Given the description of an element on the screen output the (x, y) to click on. 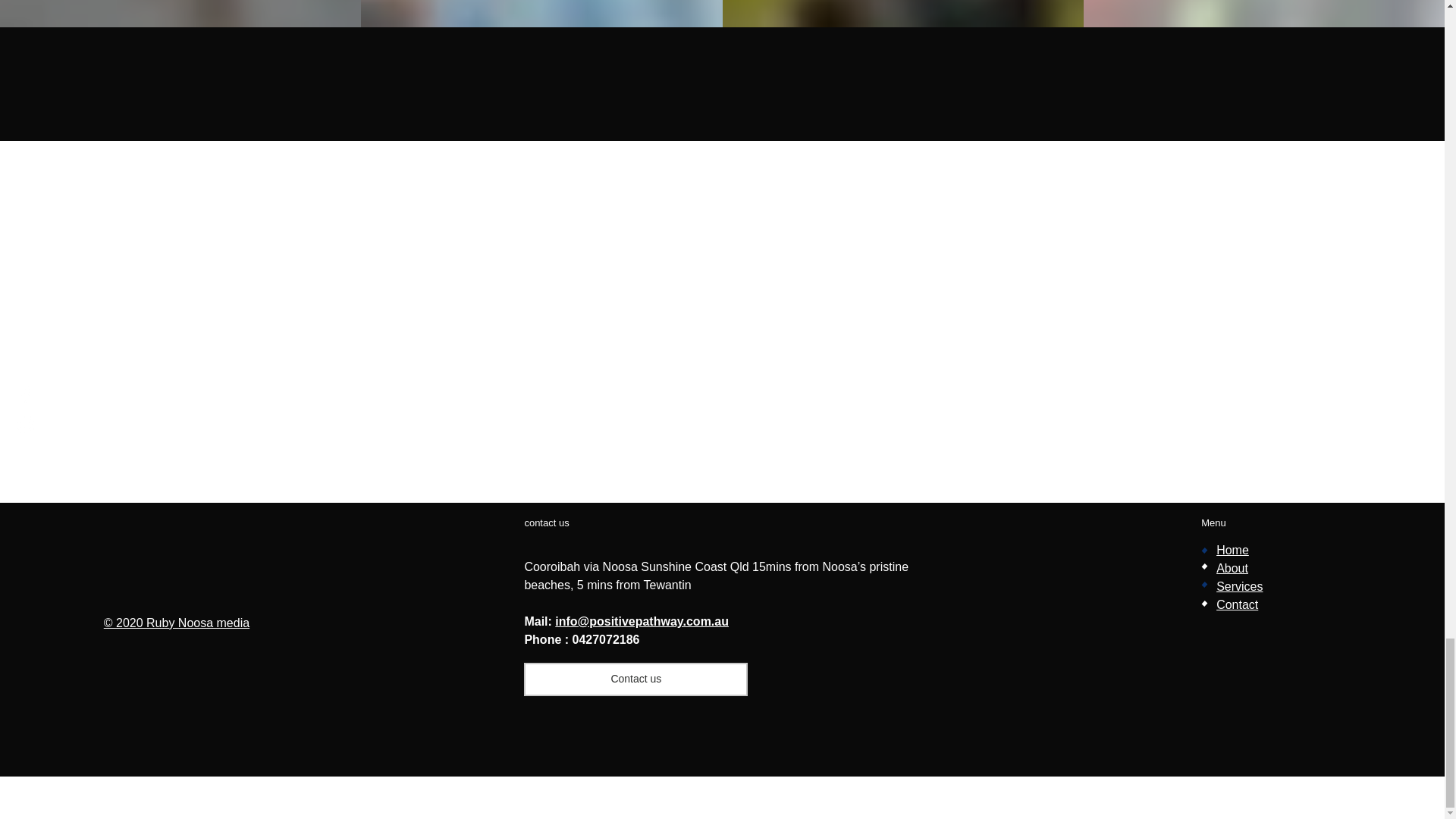
Contact (1236, 604)
About (1231, 567)
Home (1232, 549)
Services (1238, 585)
Contact us (636, 679)
